Given the description of an element on the screen output the (x, y) to click on. 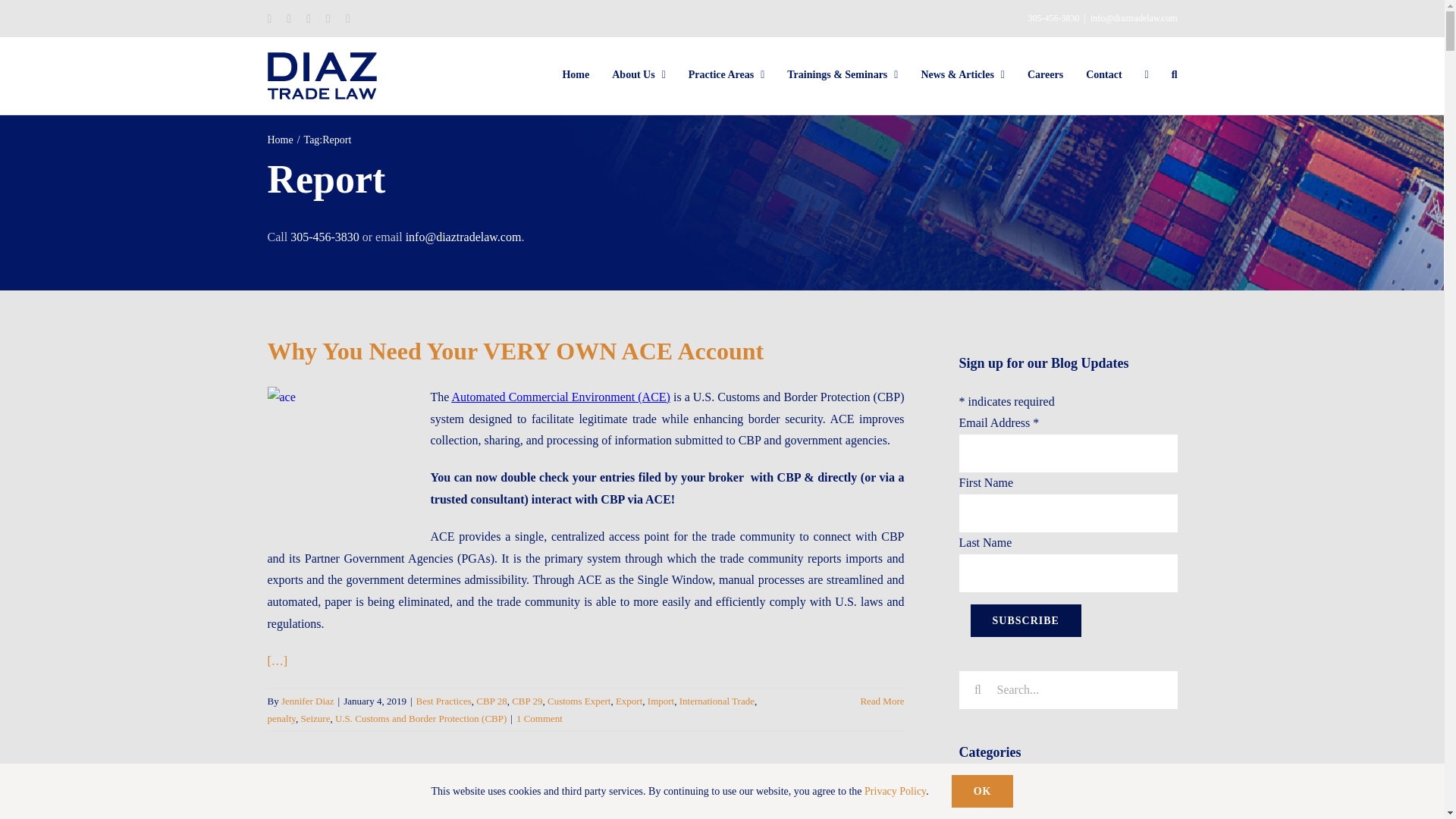
Posts by Jennifer Diaz (307, 700)
Subscribe (1026, 620)
ACE Account (585, 419)
Practice Areas (726, 74)
